Given the description of an element on the screen output the (x, y) to click on. 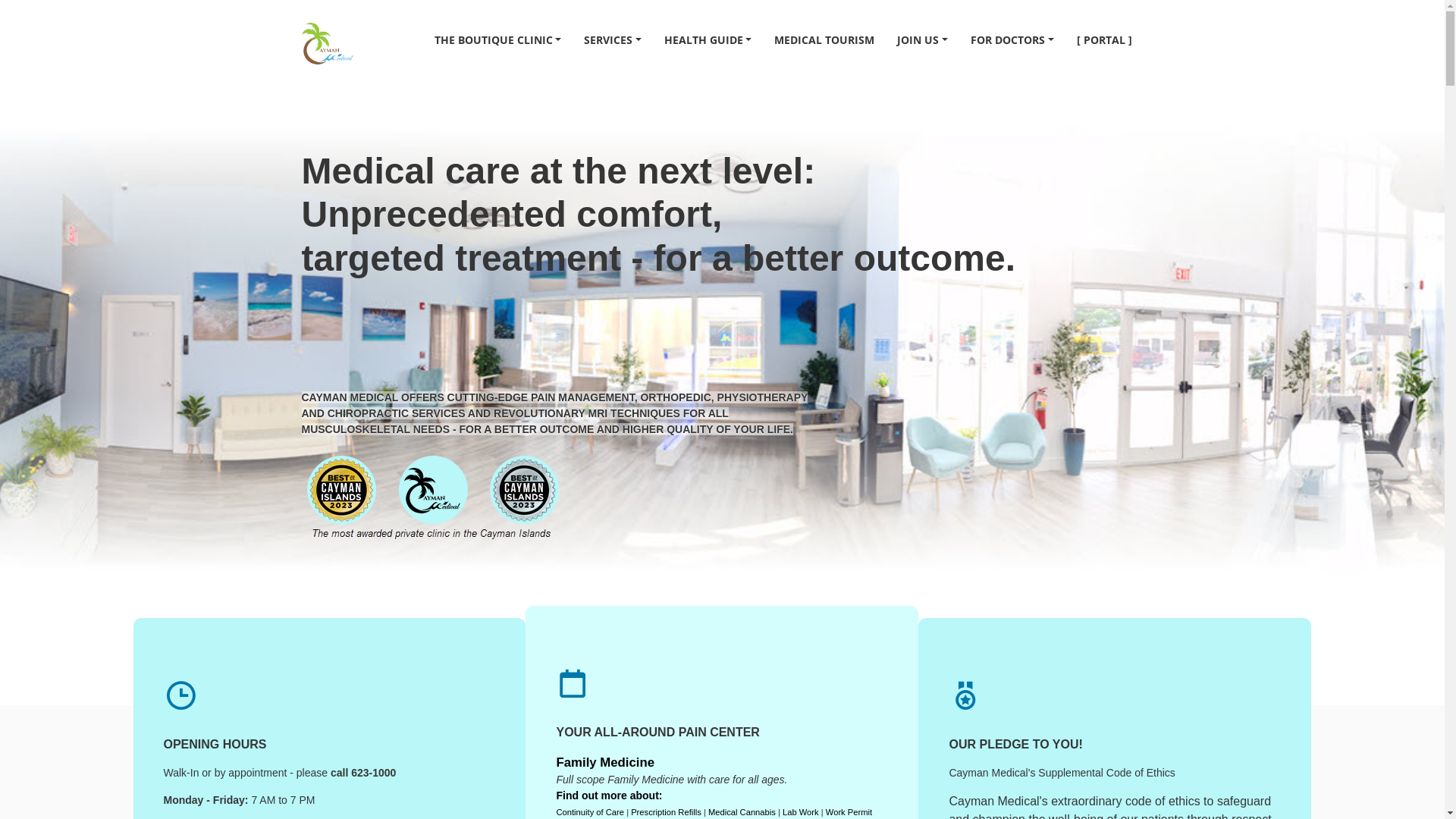
THE BOUTIQUE CLINIC Element type: text (498, 39)
[ PORTAL ] Element type: text (1103, 39)
JOIN US Element type: text (922, 39)
SERVICES Element type: text (612, 39)
MEDICAL TOURISM Element type: text (823, 39)
FOR DOCTORS Element type: text (1012, 39)
Medical Cannabis Element type: text (741, 811)
HEALTH GUIDE Element type: text (707, 39)
Prescription Refills Element type: text (665, 811)
Family Medicine Element type: text (604, 762)
Lab Work Element type: text (800, 811)
Continuity of Care Element type: text (589, 811)
Find out more about: Element type: text (608, 795)
